Given the description of an element on the screen output the (x, y) to click on. 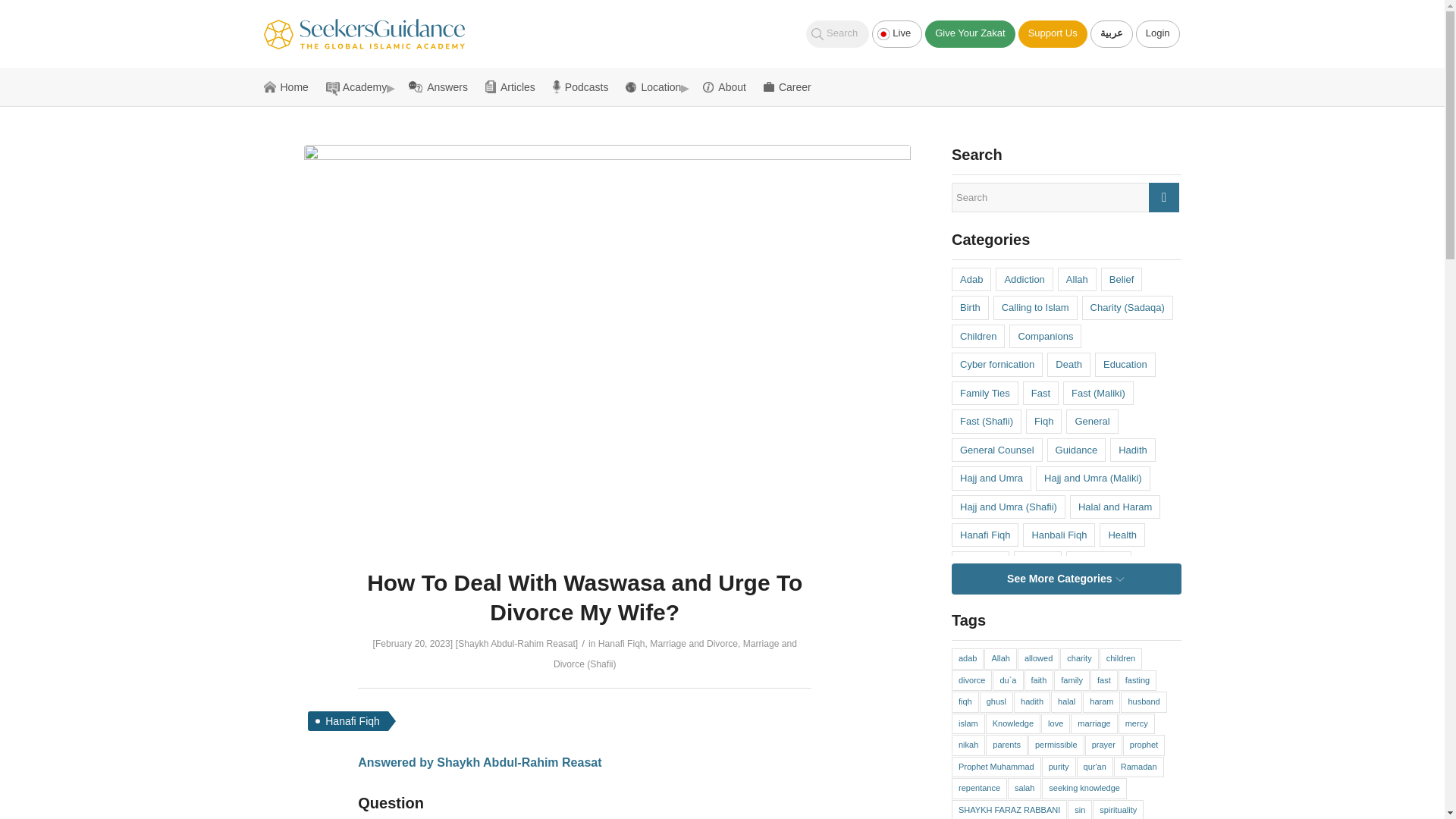
Answers (443, 86)
Marriage and Divorce (693, 643)
Location (658, 86)
Login (1157, 33)
Shaykh Abdul-Rahim Reasat (516, 643)
Hanafi Fiqh (621, 643)
Academy (361, 86)
Career (786, 86)
Support Us (1052, 33)
Search (837, 33)
Podcasts (585, 86)
Give Your Zakat (969, 33)
Articles (514, 86)
About (729, 86)
